Given the description of an element on the screen output the (x, y) to click on. 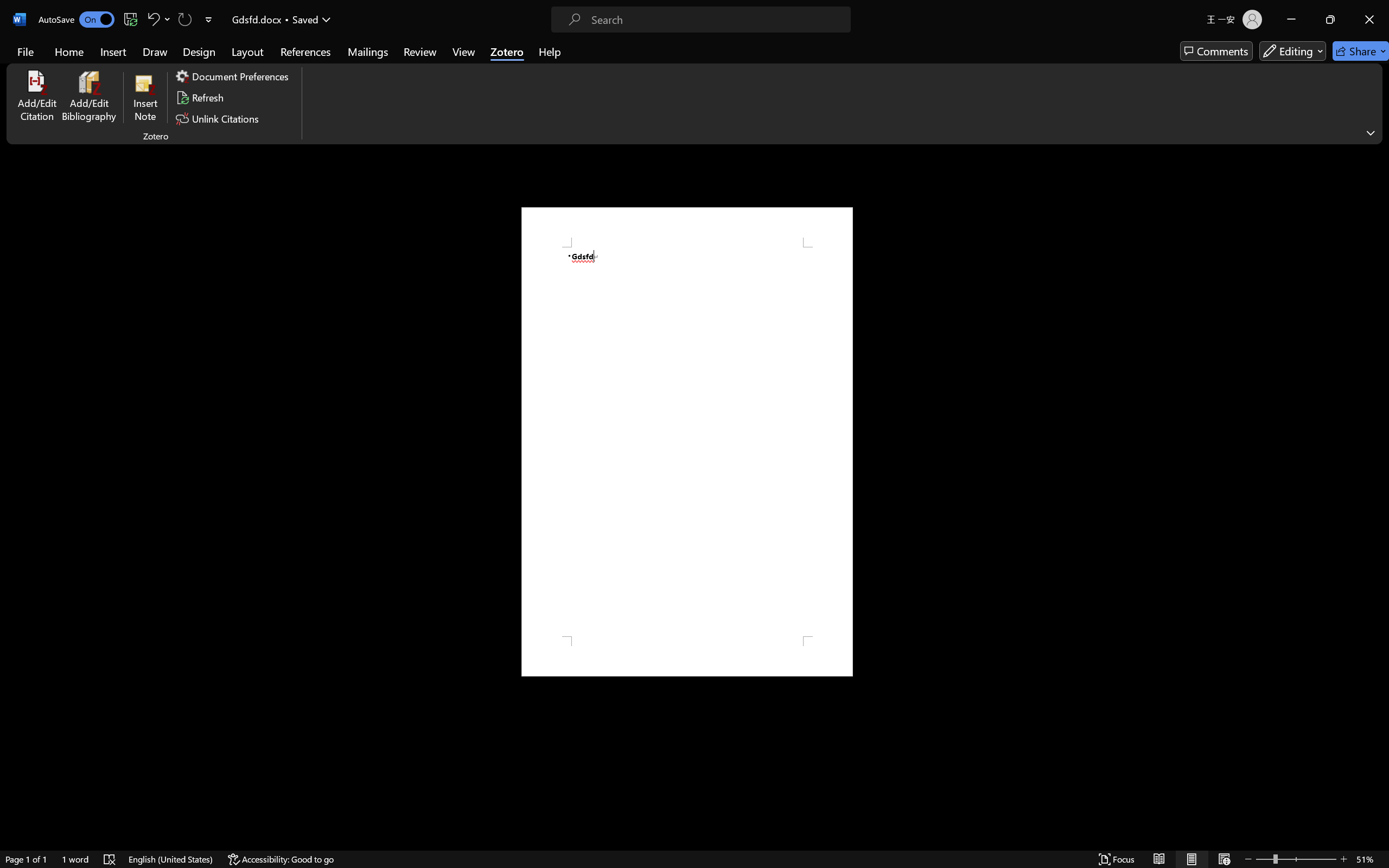
Page 1 content (686, 441)
